Given the description of an element on the screen output the (x, y) to click on. 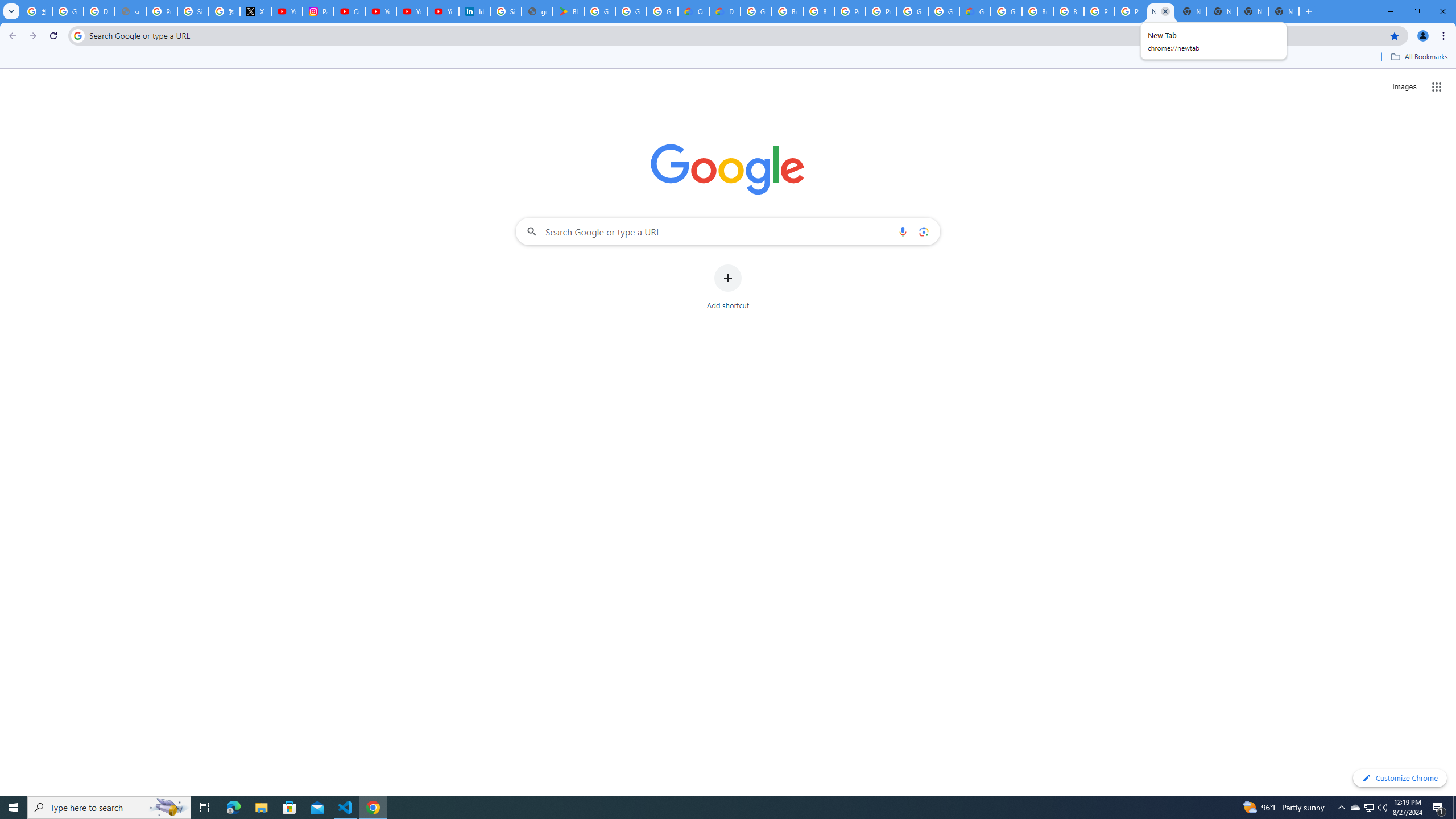
Sign in - Google Accounts (192, 11)
google_privacy_policy_en.pdf (536, 11)
Bookmarks (728, 58)
Google Cloud Estimate Summary (974, 11)
Google Workspace - Specific Terms (662, 11)
Search Google or type a URL (727, 230)
X (255, 11)
New Tab (1190, 11)
